Given the description of an element on the screen output the (x, y) to click on. 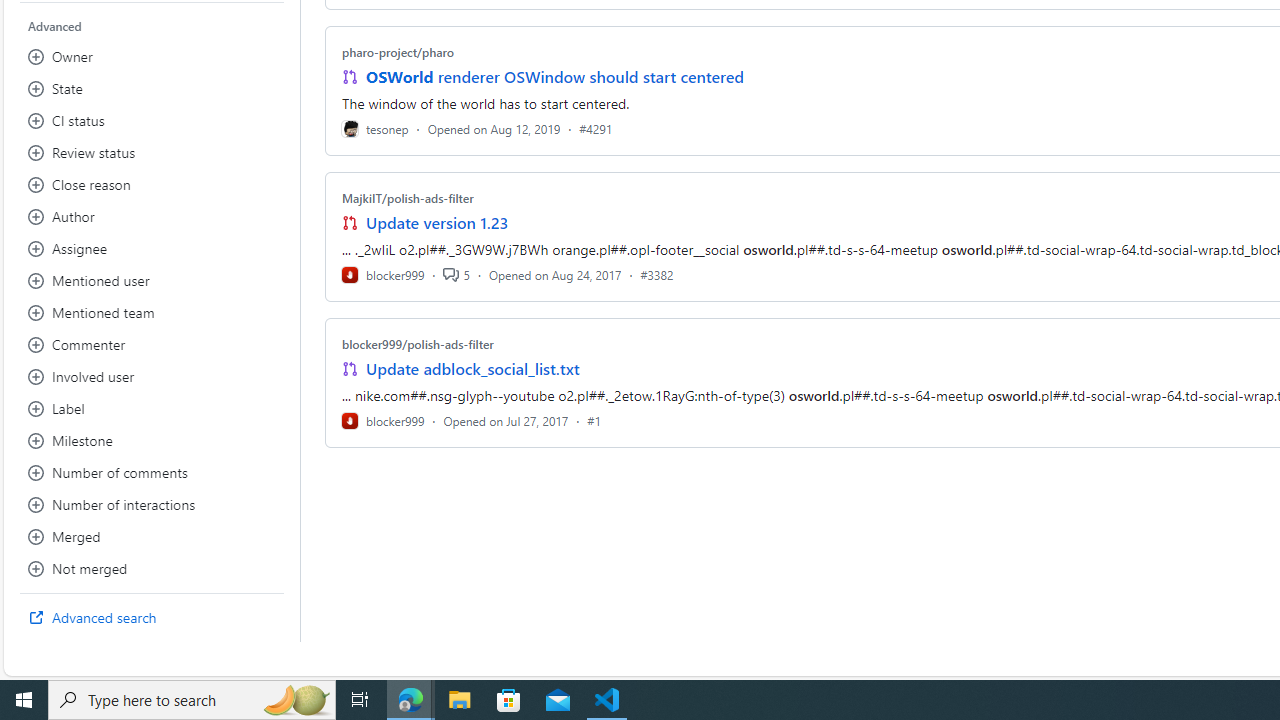
Update adblock_social_list.txt (472, 368)
#1 (594, 420)
#1 (594, 420)
#4291 (595, 128)
#3382 (657, 273)
5 (455, 273)
